Given the description of an element on the screen output the (x, y) to click on. 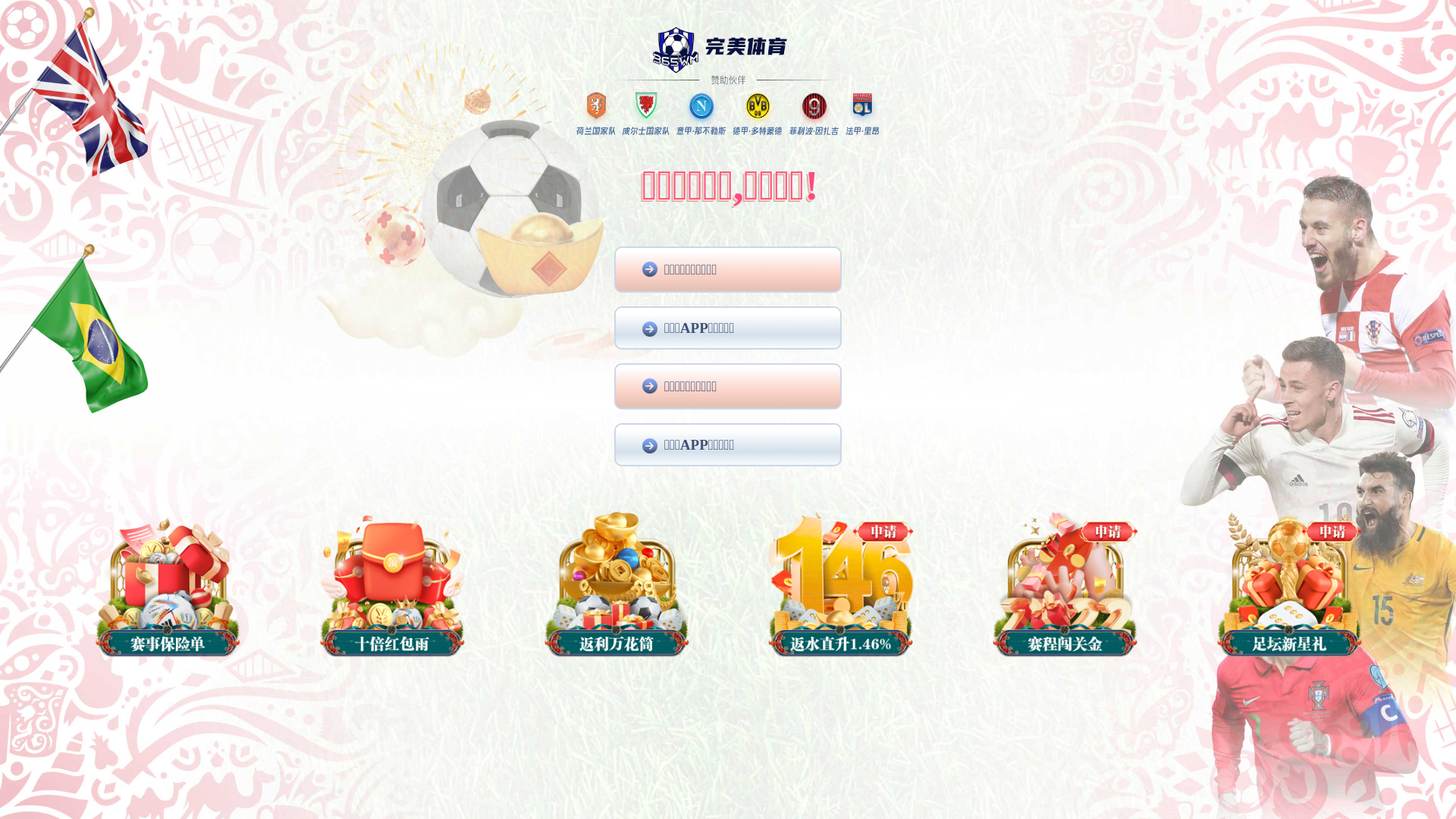
2 Element type: text (1042, 402)
1 Element type: text (1023, 402)
4 Element type: text (1080, 402)
3 Element type: text (1061, 402)
